Given the description of an element on the screen output the (x, y) to click on. 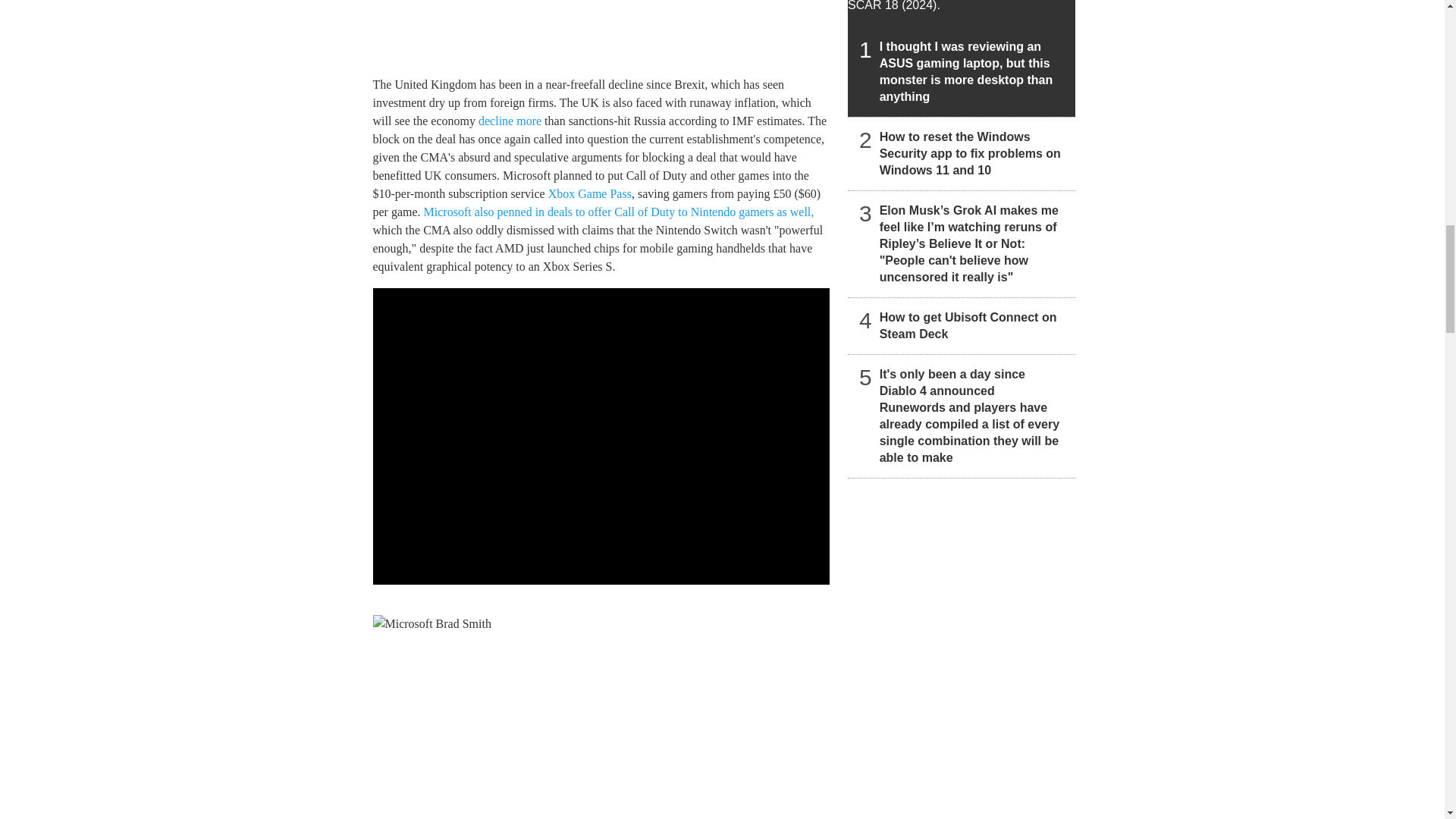
decline more (510, 120)
Xbox Game Pass (589, 193)
